Given the description of an element on the screen output the (x, y) to click on. 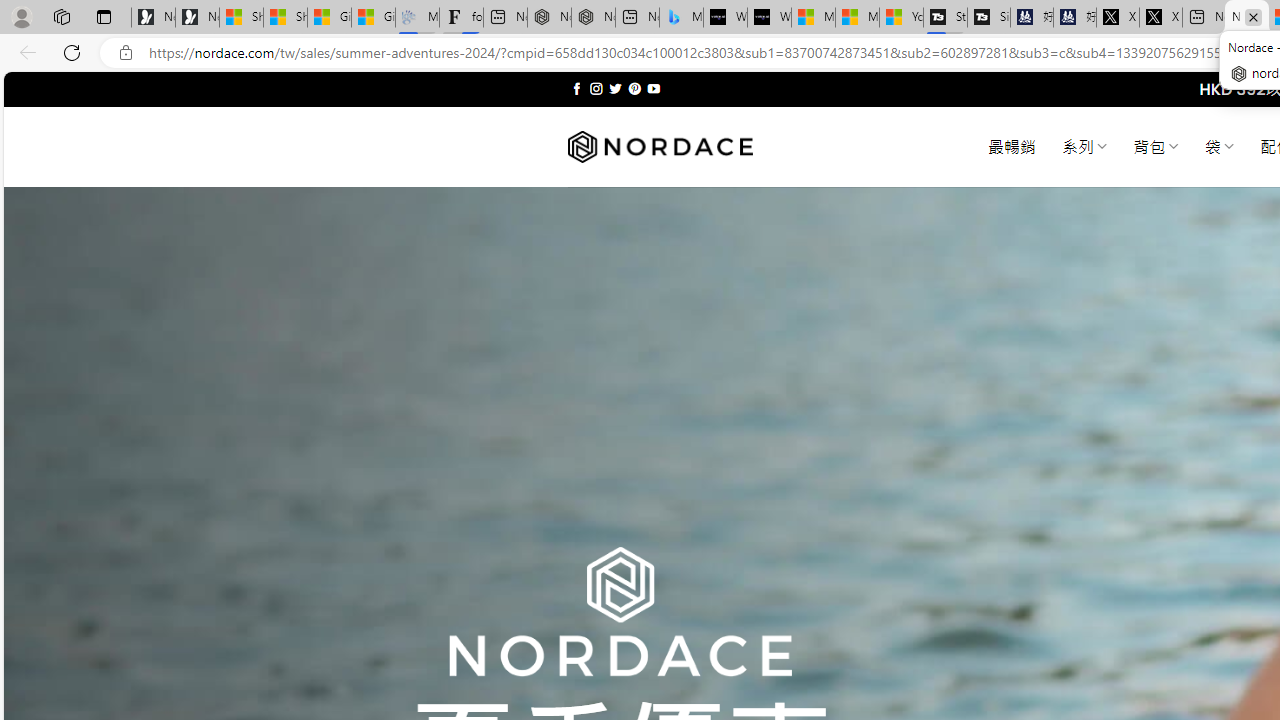
Nordace - #1 Japanese Best-Seller - Siena Smart Backpack (593, 17)
Follow on Instagram (596, 88)
Follow on Pinterest (634, 88)
